Given the description of an element on the screen output the (x, y) to click on. 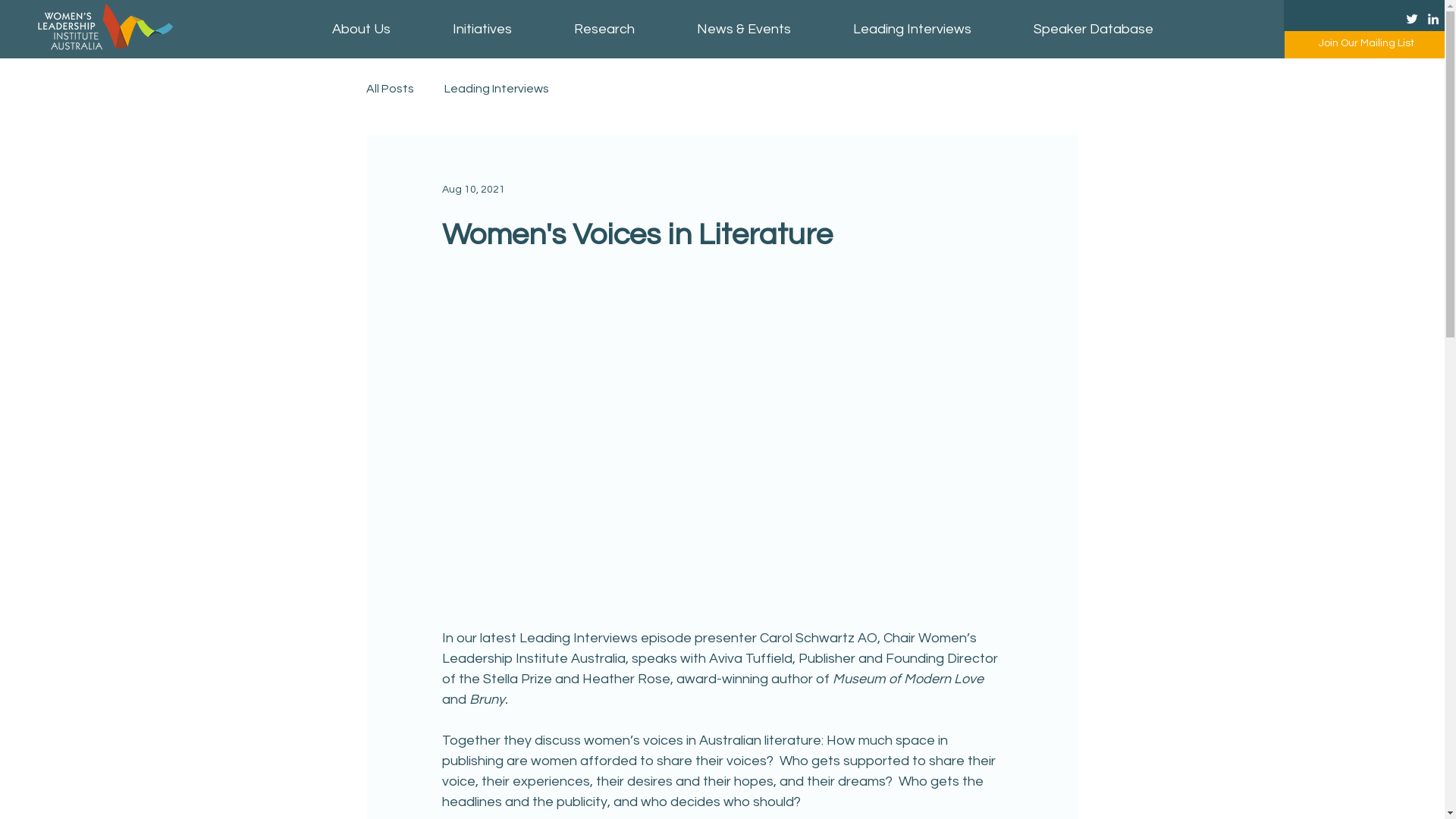
Join Our Mailing List Element type: text (1365, 43)
Leading Interviews Element type: text (912, 29)
All Posts Element type: text (389, 88)
About Us Element type: text (361, 29)
Speaker Database Element type: text (1093, 29)
Research Element type: text (603, 29)
News & Events Element type: text (743, 29)
Initiatives Element type: text (481, 29)
Leading Interviews Element type: text (496, 88)
